Given the description of an element on the screen output the (x, y) to click on. 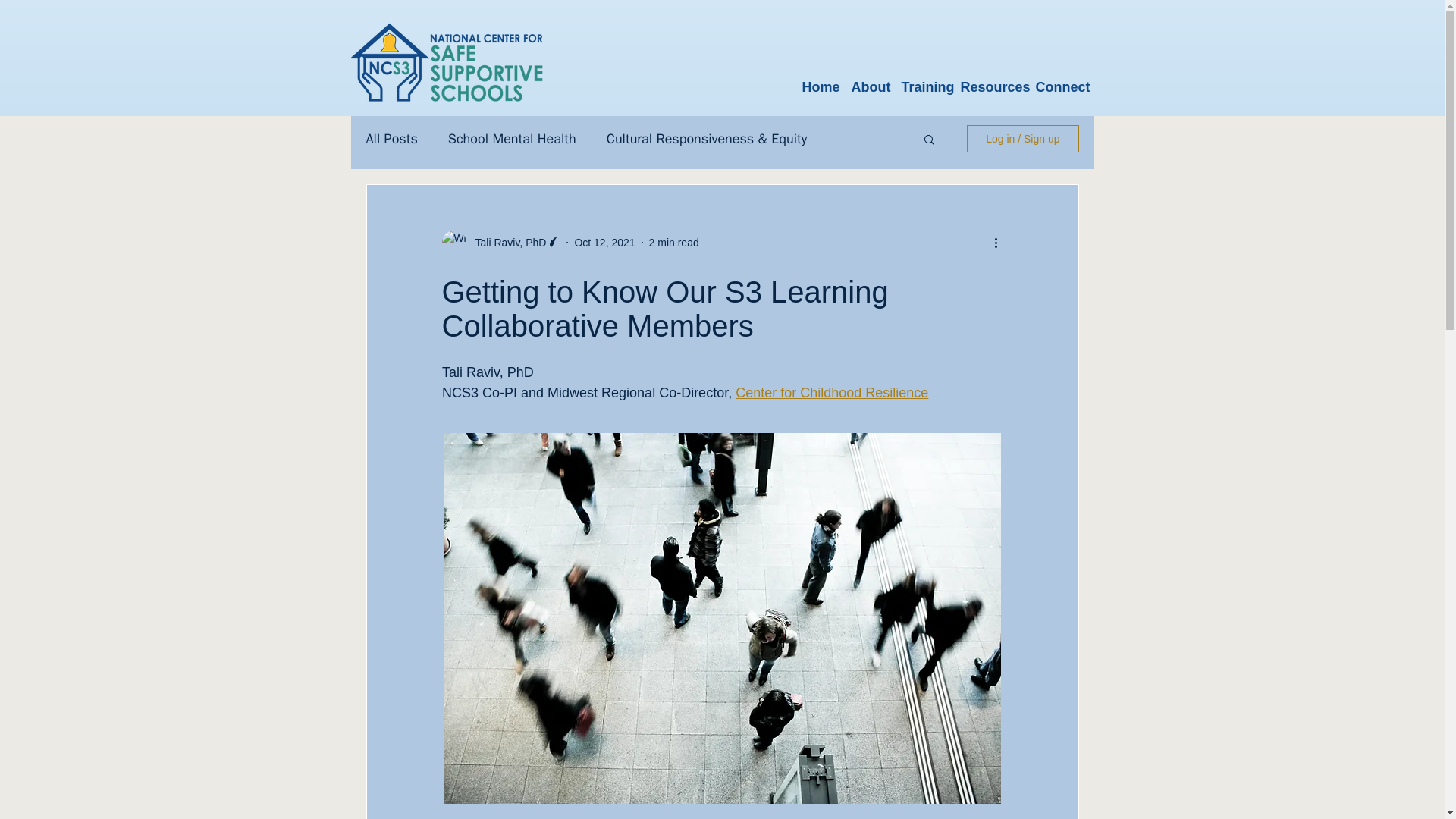
2 min read (673, 242)
School Mental Health (512, 138)
Tali Raviv, PhD (505, 242)
Home (820, 80)
Center for Childhood Resilience (831, 392)
Oct 12, 2021 (603, 242)
Resources (991, 80)
About (869, 80)
Training (924, 80)
All Posts (390, 138)
